Given the description of an element on the screen output the (x, y) to click on. 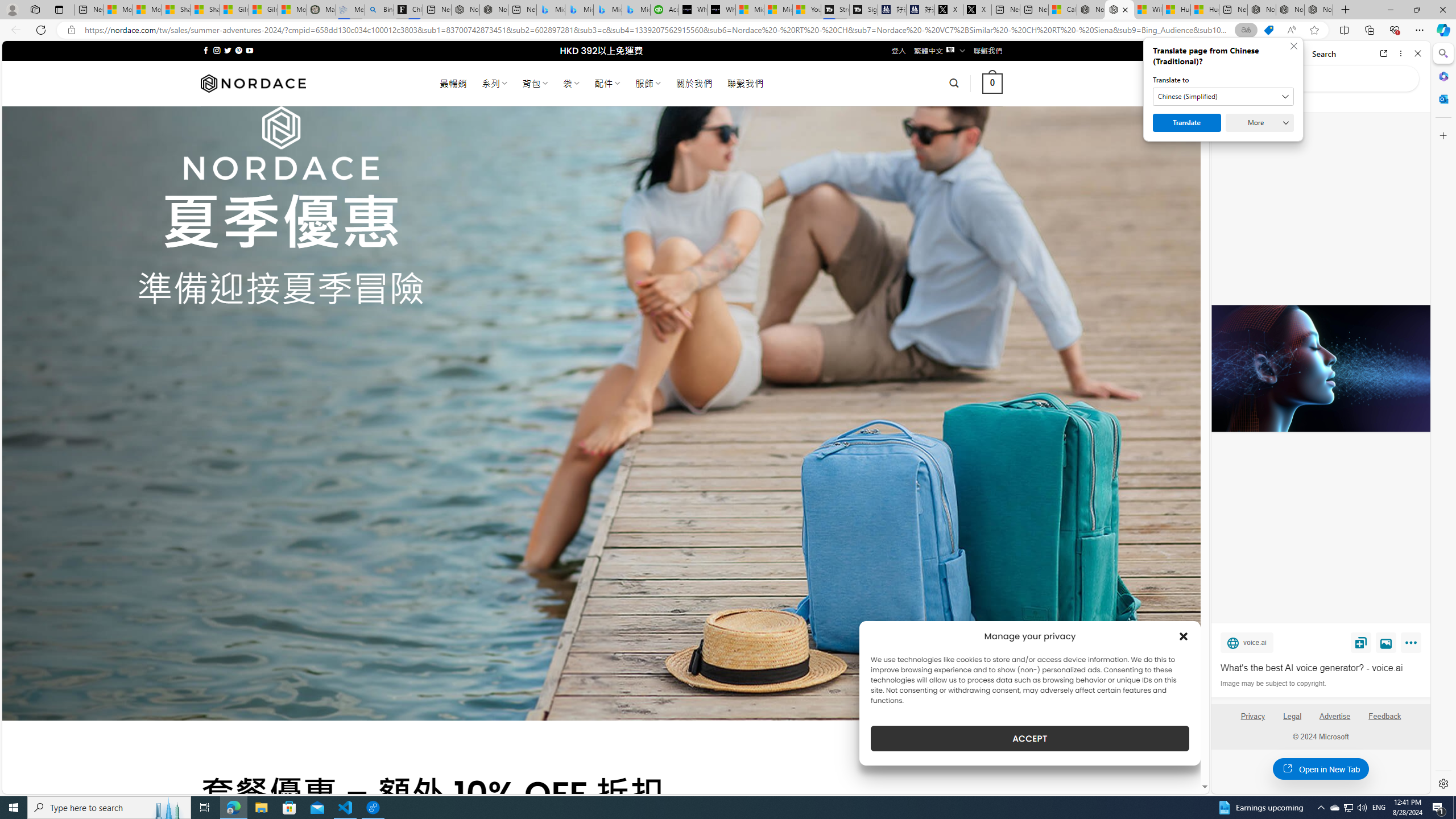
Follow on YouTube (249, 50)
Image may be subject to copyright. (1273, 682)
Nordace - Summer Adventures 2024 (1119, 9)
Nordace (252, 83)
Collections (1369, 29)
Microsoft 365 (1442, 76)
Microsoft Start Sports (749, 9)
App bar (728, 29)
Show translate options (1245, 29)
This site has coupons! Shopping in Microsoft Edge (1268, 29)
Web scope (1230, 102)
Class: cmplz-close (1183, 636)
